Given the description of an element on the screen output the (x, y) to click on. 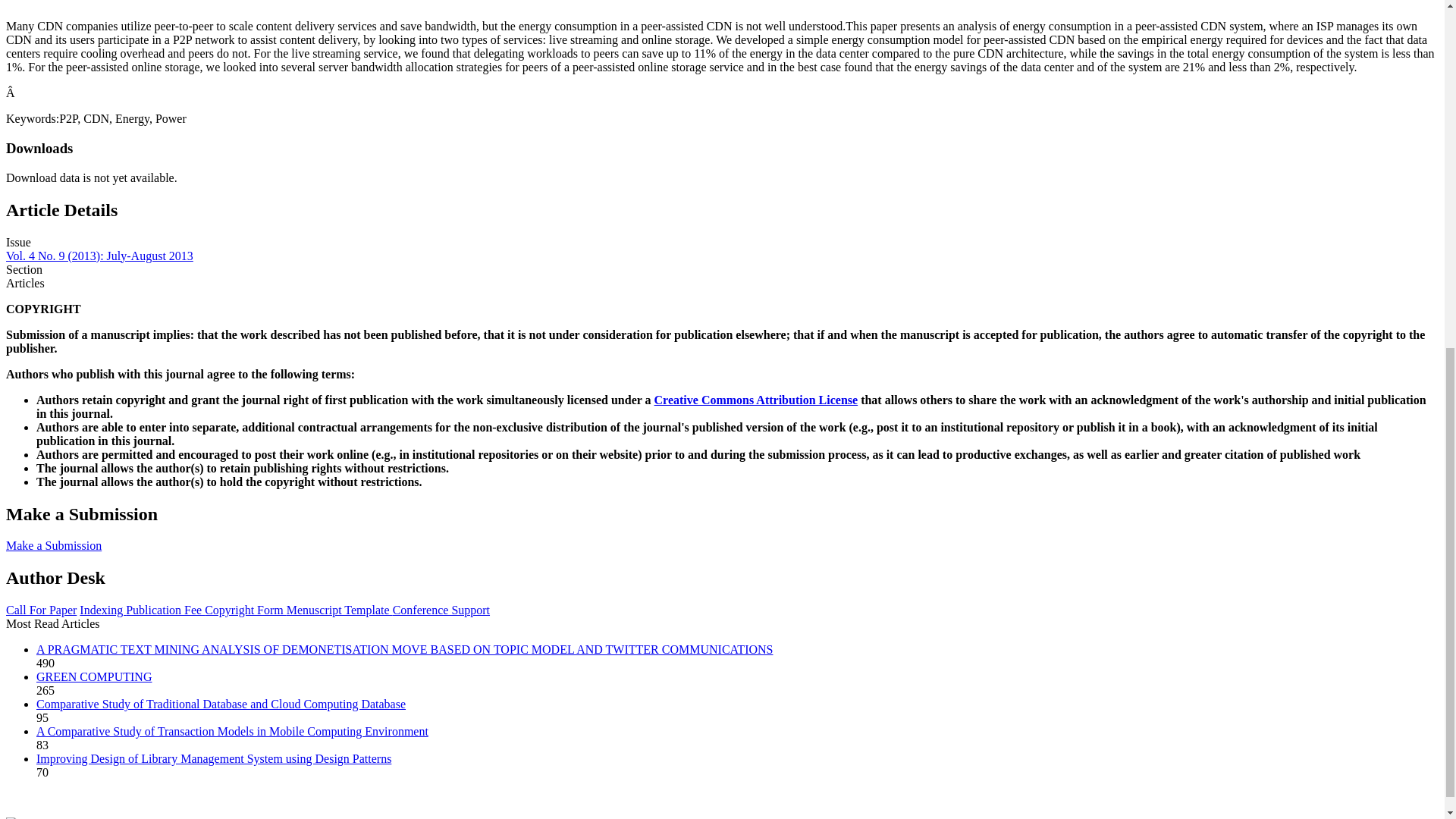
Menuscript Template (339, 609)
Call For Paper (41, 609)
Creative Commons Attribution License (756, 399)
Make a Submission (53, 545)
Copyright Form (245, 609)
Publication Fee (165, 609)
Conference Support (441, 609)
GREEN COMPUTING (93, 676)
Indexing (102, 609)
